Given the description of an element on the screen output the (x, y) to click on. 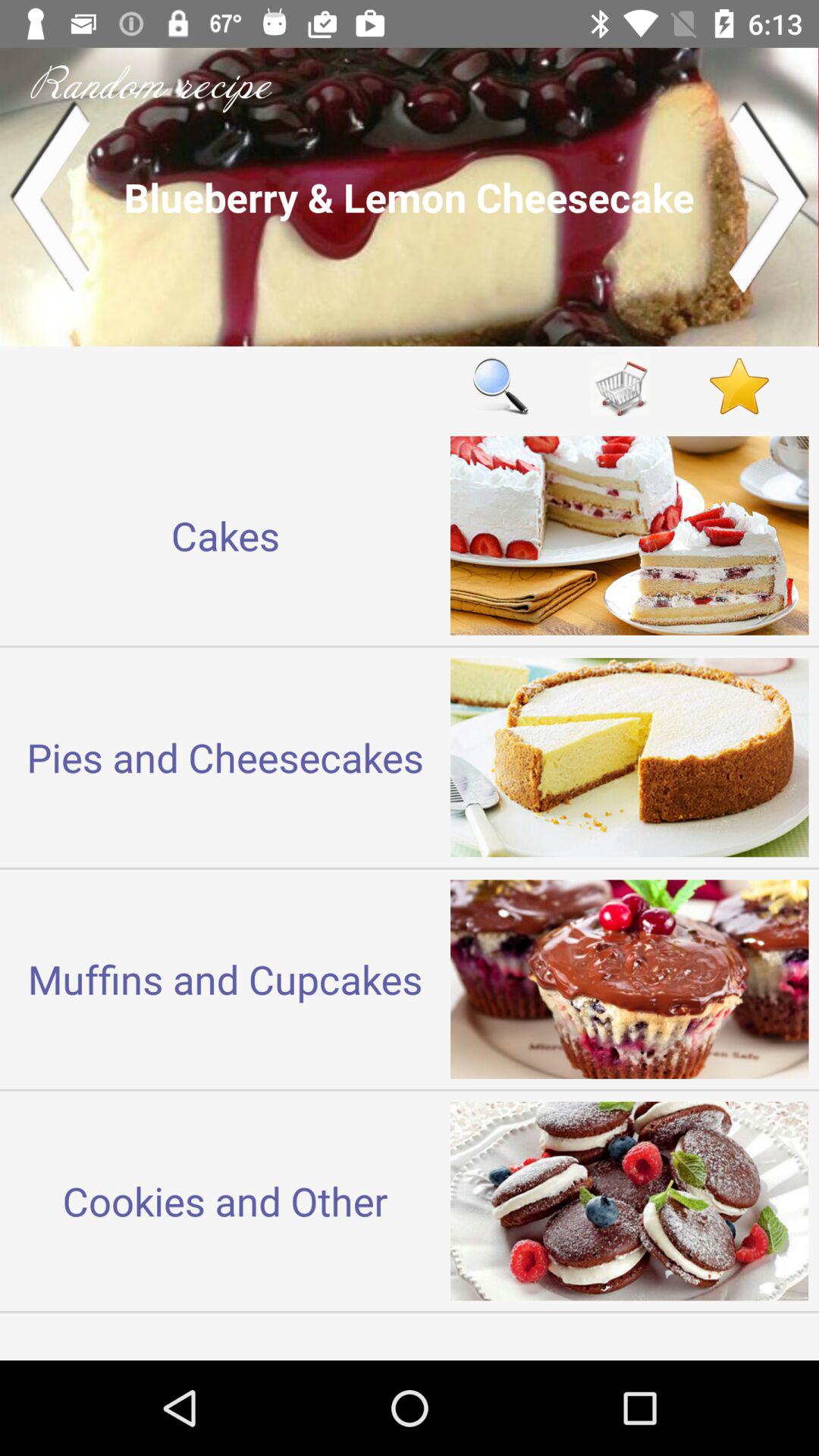
scroll until muffins and cupcakes icon (225, 978)
